Given the description of an element on the screen output the (x, y) to click on. 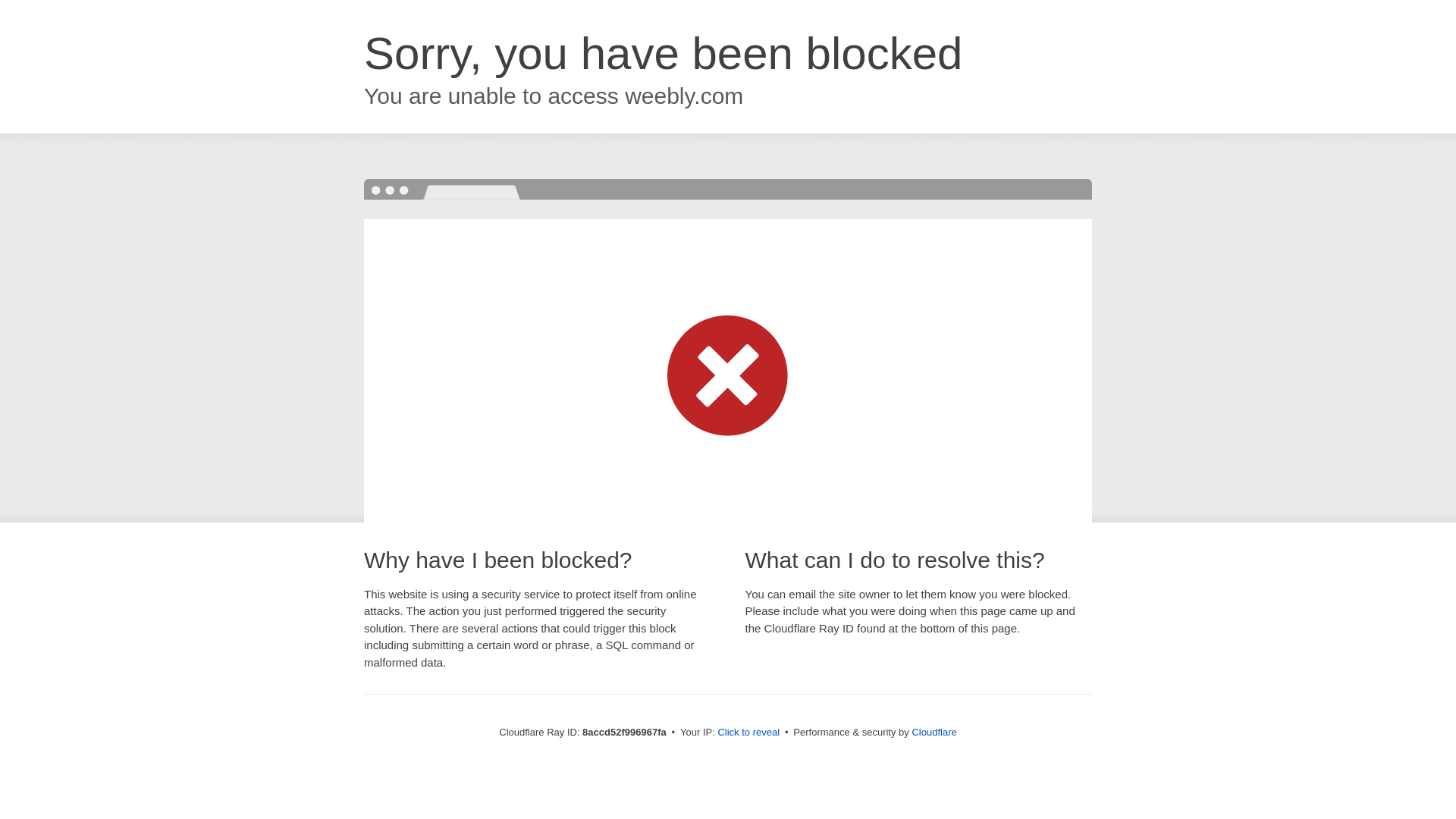
Click to reveal (747, 732)
Cloudflare (933, 731)
